Given the description of an element on the screen output the (x, y) to click on. 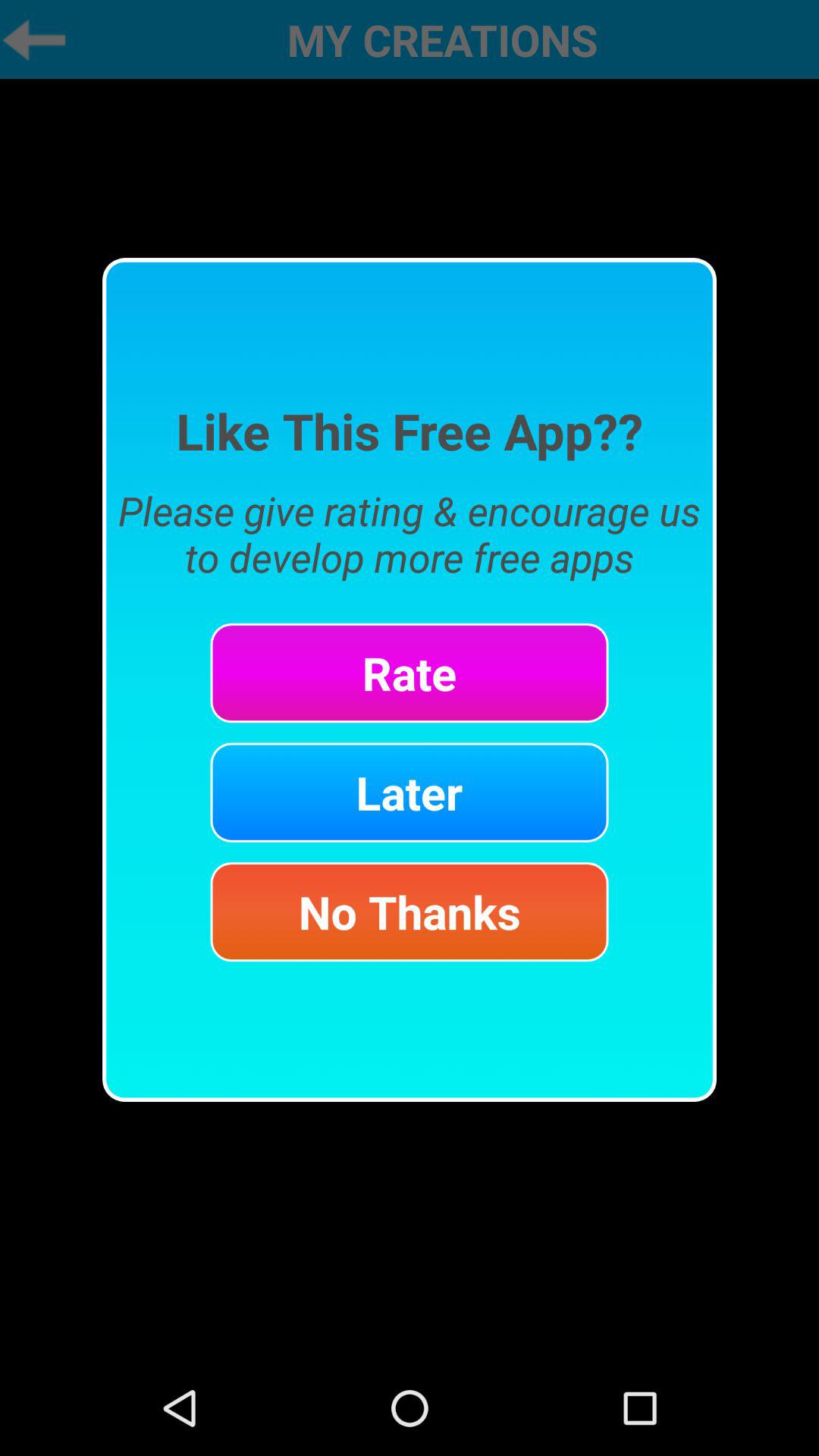
scroll until rate icon (409, 672)
